Given the description of an element on the screen output the (x, y) to click on. 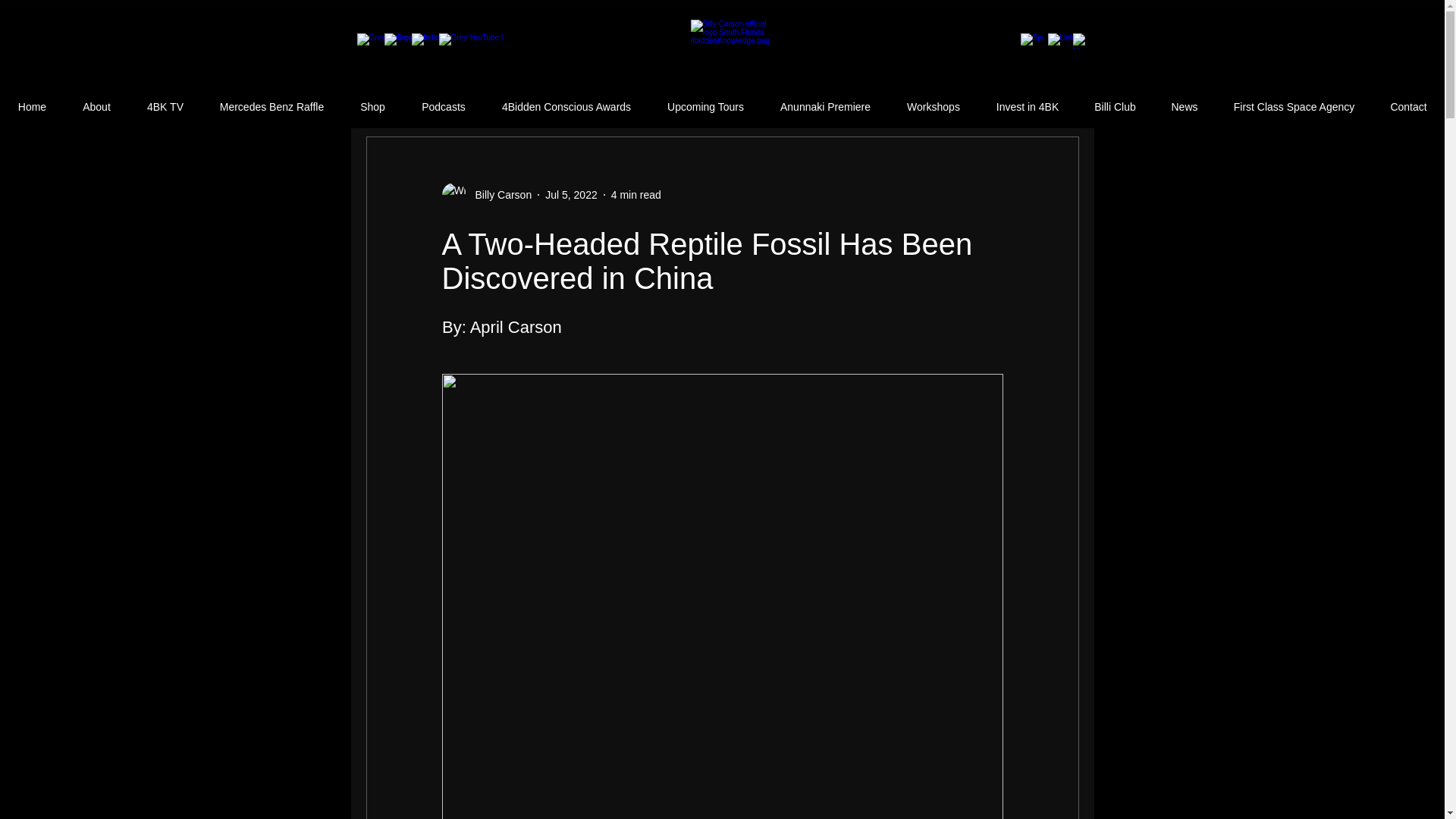
First Class Space Agency (1294, 107)
4BiddenKnowledge (731, 52)
Billi Club (1115, 107)
Billy Carson (498, 194)
4 min read (636, 193)
Home (32, 107)
Jul 5, 2022 (570, 193)
Workshops (933, 107)
Mercedes Benz Raffle (272, 107)
Billy Carson (486, 194)
